Given the description of an element on the screen output the (x, y) to click on. 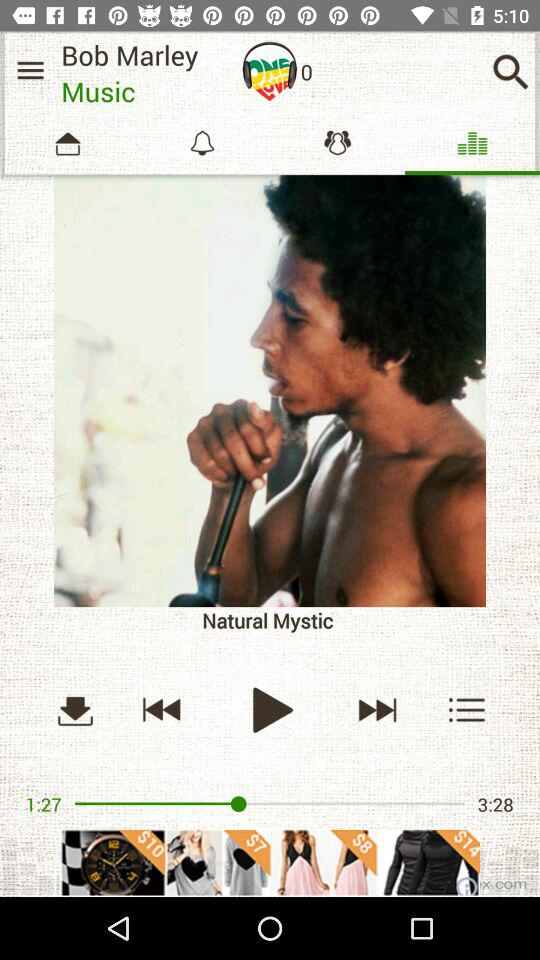
adventisment (270, 862)
